Given the description of an element on the screen output the (x, y) to click on. 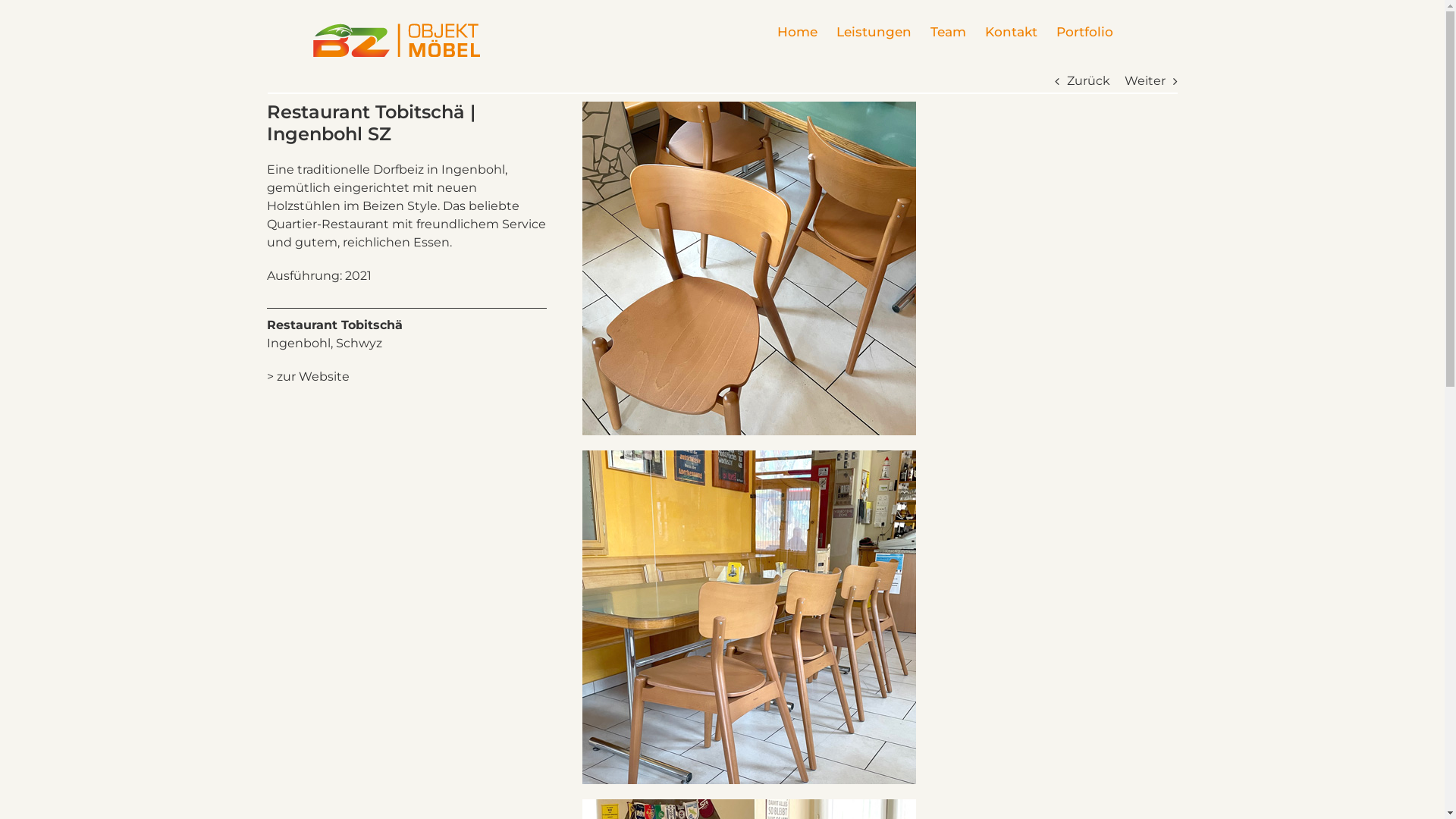
Kontakt Element type: text (1010, 31)
> zur Website Element type: text (307, 376)
Portfolio Element type: text (1083, 31)
Team Element type: text (947, 31)
BZ-Objektmoebel-Restauant-Tobitschae-Ingenbohl-Bild2 Element type: hover (749, 617)
Weiter Element type: text (1143, 81)
Home Element type: text (796, 31)
Leistungen Element type: text (872, 31)
BZ-Objektmoebel-Restauant-Tobitschae-Ingenbohl-Bild3 Element type: hover (749, 268)
